Given the description of an element on the screen output the (x, y) to click on. 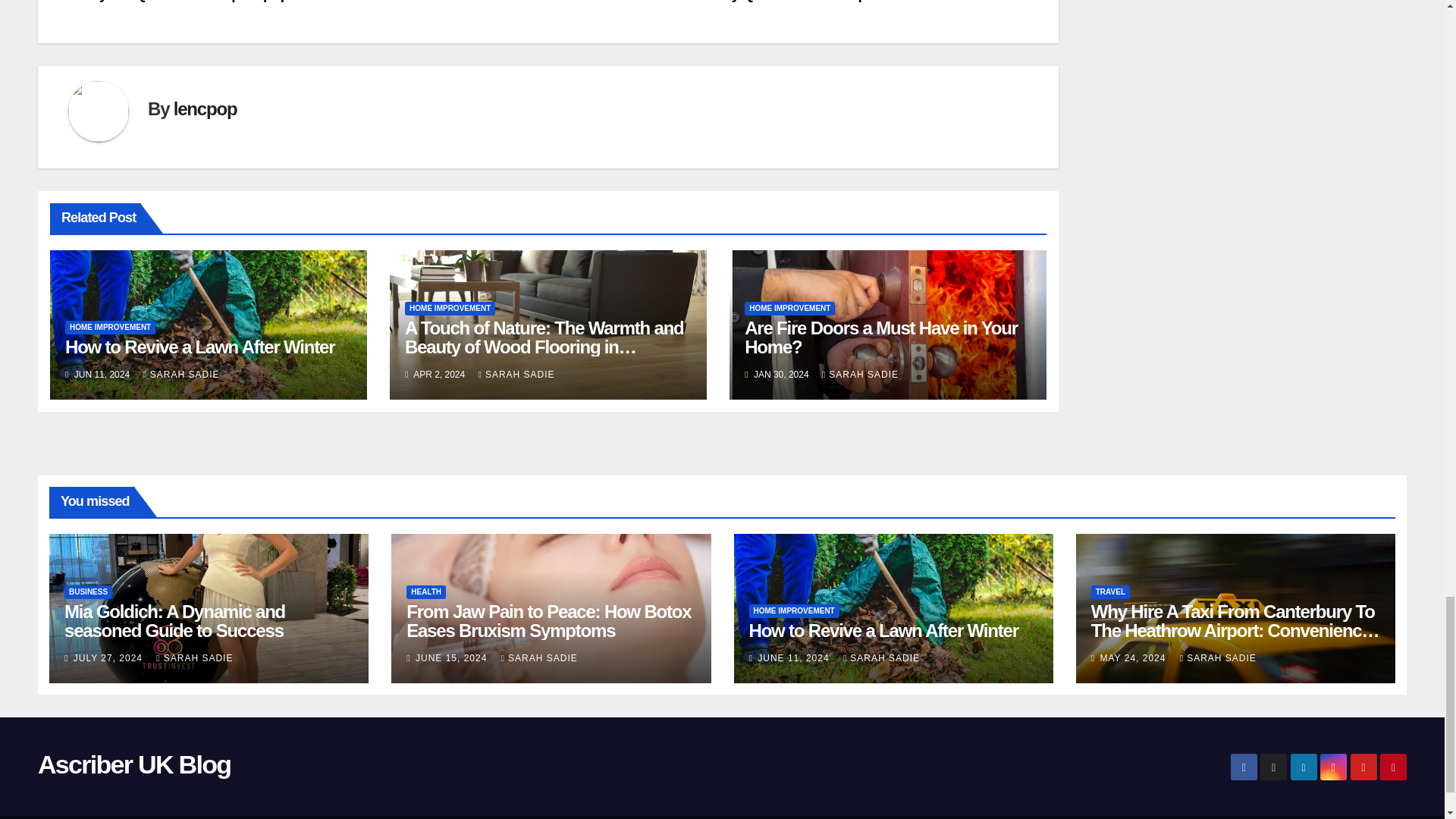
SARAH SADIE (180, 374)
How to Revive a Lawn After Winter (199, 346)
Permalink to: Are Fire Doors a Must Have in Your Home? (880, 337)
HOME IMPROVEMENT (110, 327)
Permalink to: How to Revive a Lawn After Winter (199, 346)
lencpop (205, 108)
